Given the description of an element on the screen output the (x, y) to click on. 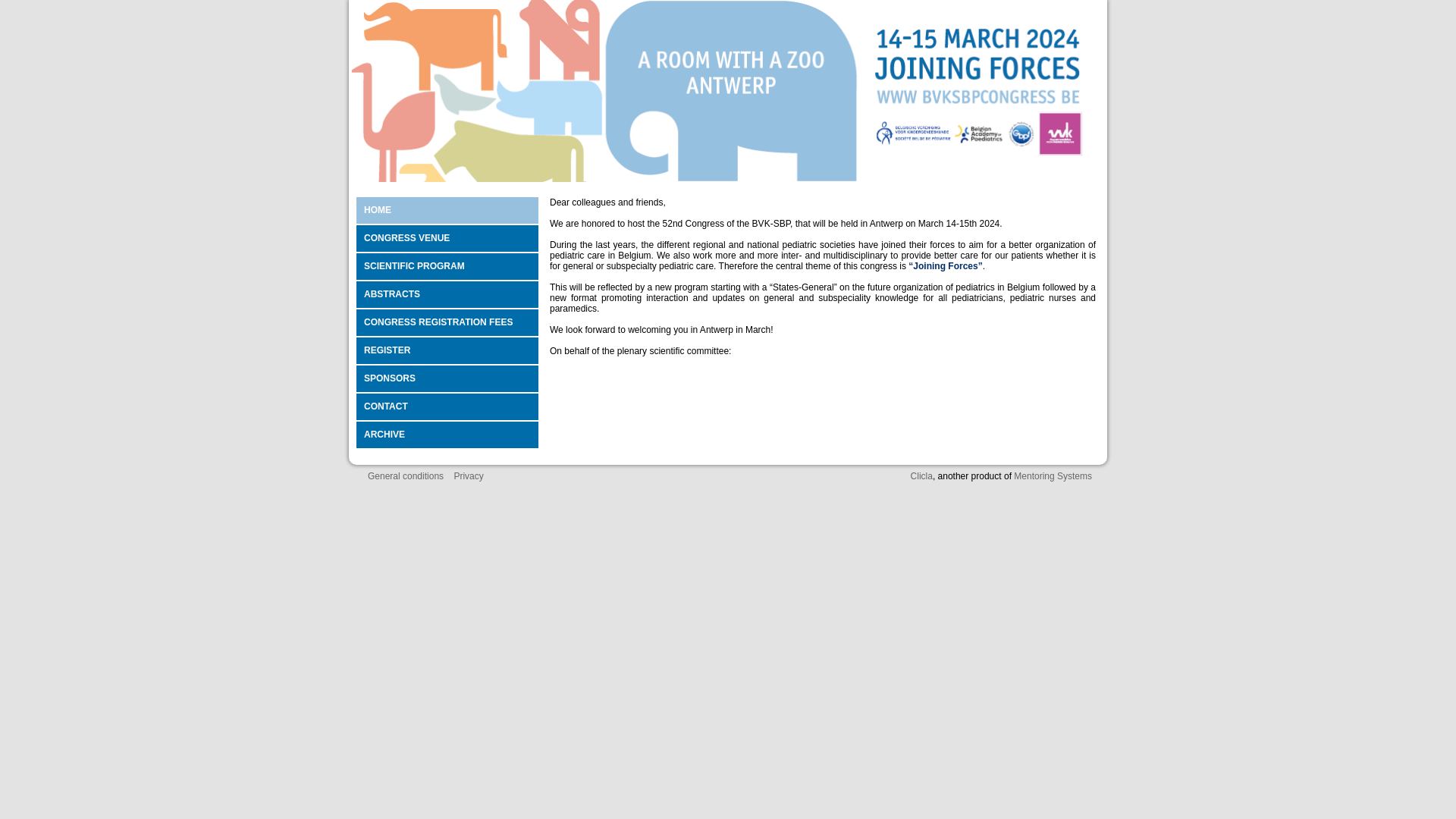
SPONSORS Element type: text (451, 378)
REGISTER Element type: text (451, 350)
Privacy Element type: text (468, 475)
ARCHIVE Element type: text (451, 434)
CONGRESS REGISTRATION FEES Element type: text (451, 322)
Clicla Element type: text (921, 475)
ABSTRACTS Element type: text (451, 294)
SCIENTIFIC PROGRAM Element type: text (451, 266)
HOME Element type: text (451, 210)
CONGRESS VENUE Element type: text (451, 238)
General conditions Element type: text (405, 475)
CONTACT Element type: text (451, 406)
Mentoring Systems Element type: text (1052, 475)
